Given the description of an element on the screen output the (x, y) to click on. 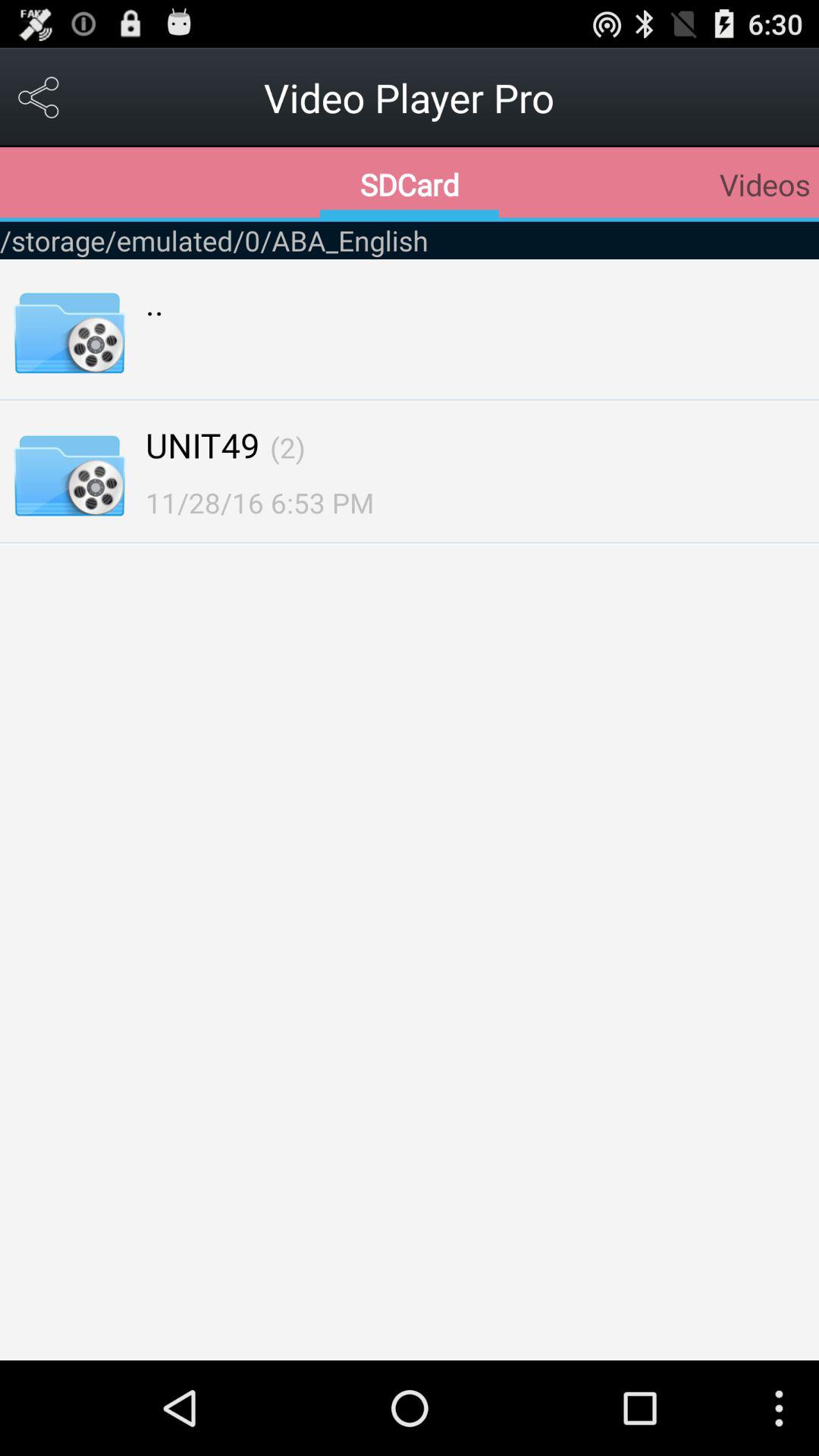
click icon below storage emulated 0 item (154, 302)
